Given the description of an element on the screen output the (x, y) to click on. 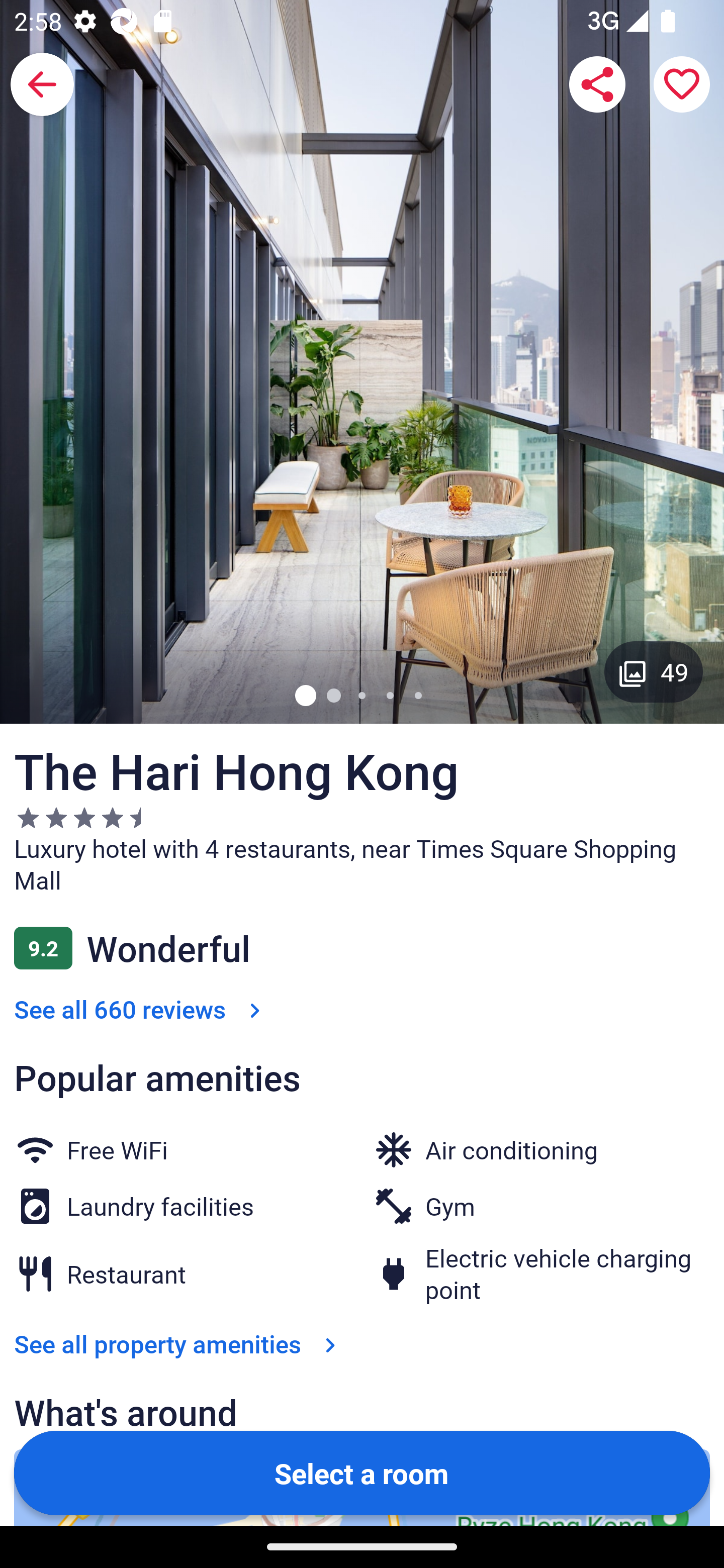
Back (42, 84)
Save property to a trip (681, 84)
Share The Hari Hong Kong (597, 84)
Gallery button with 49 images (653, 671)
See all 660 reviews See all 660 reviews Link (140, 1009)
See all property amenities (178, 1343)
Select a room Button Select a room (361, 1472)
